Given the description of an element on the screen output the (x, y) to click on. 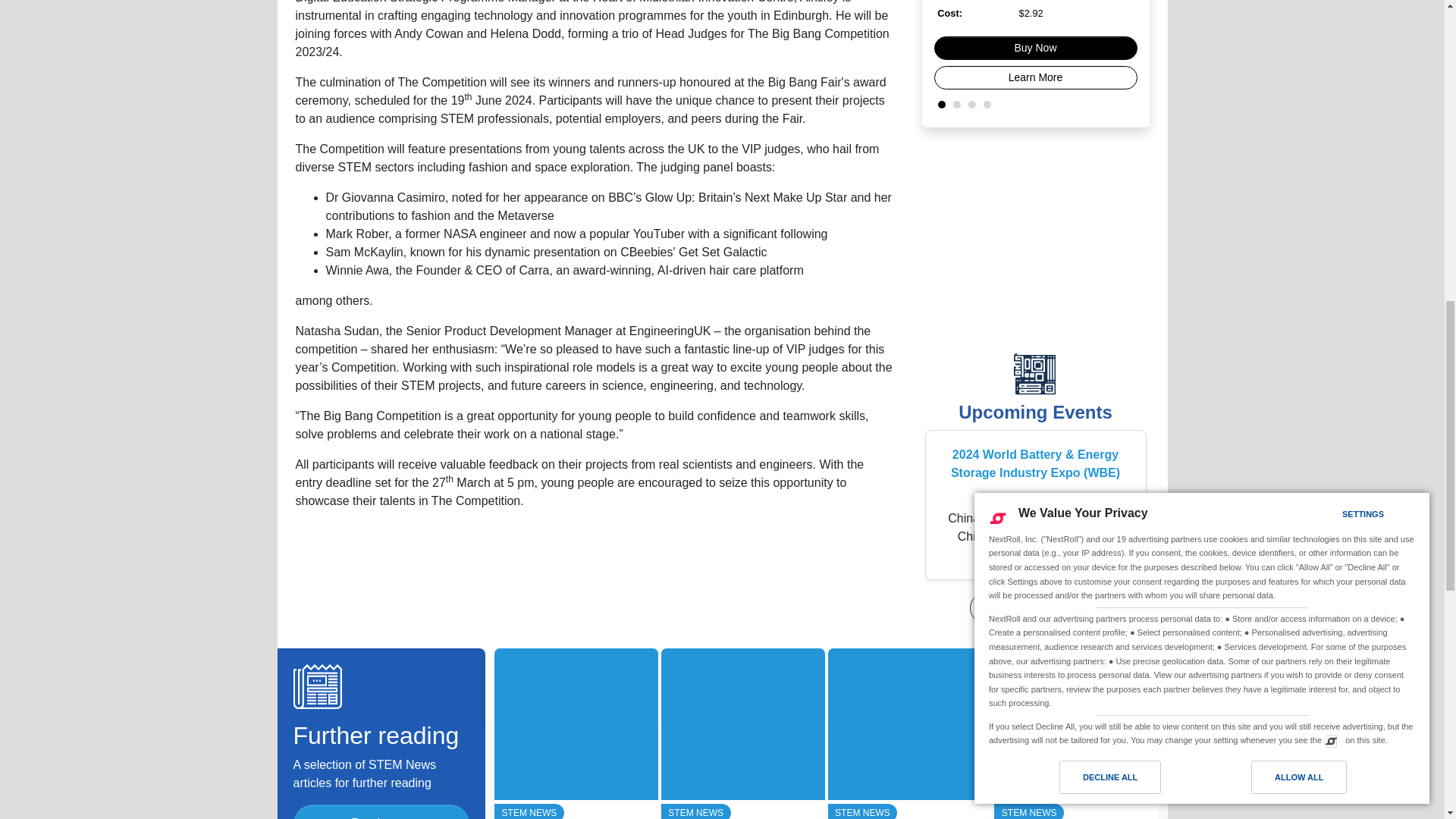
All upcoming events (1035, 412)
All upcoming events (1034, 608)
